Given the description of an element on the screen output the (x, y) to click on. 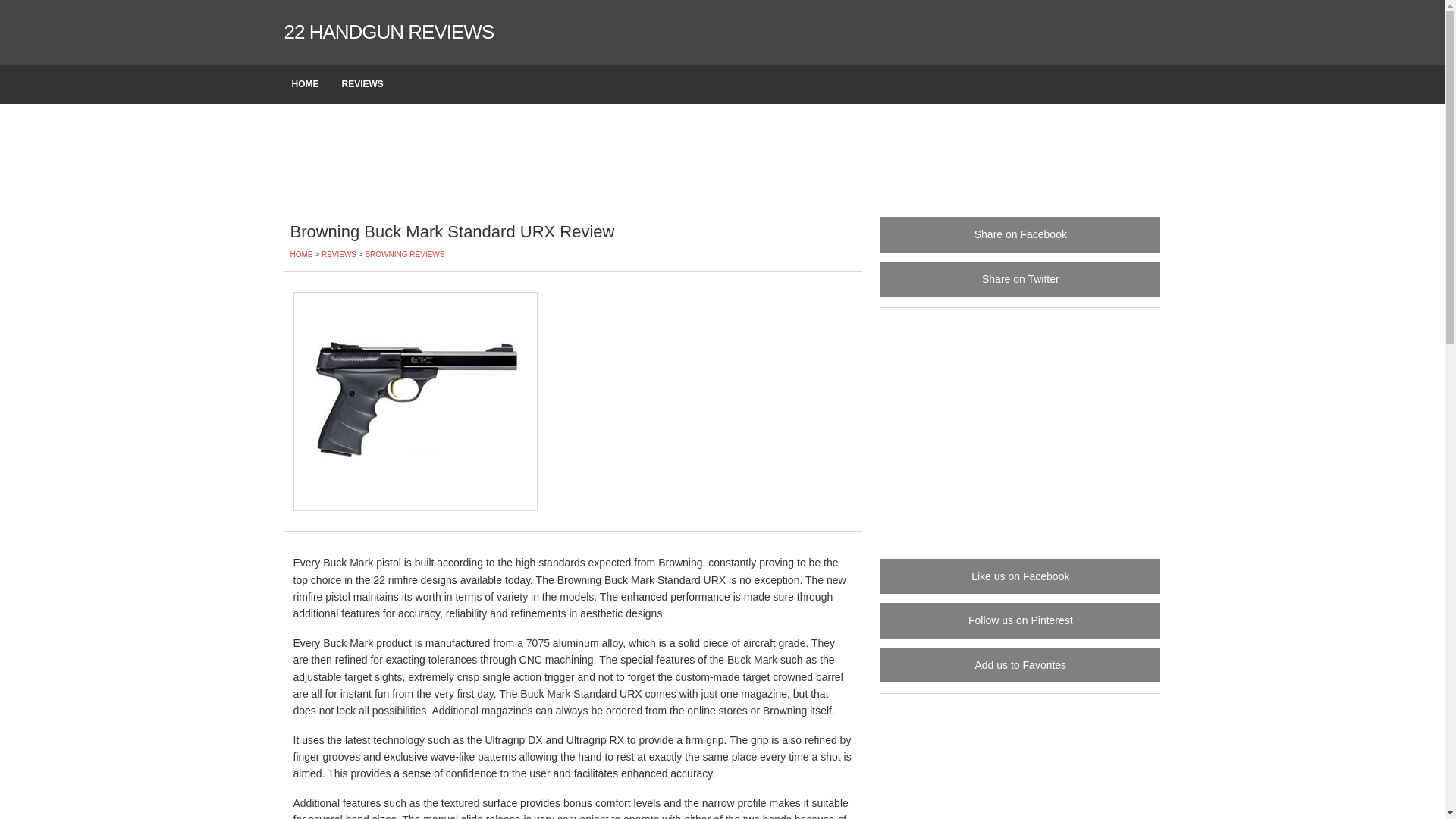
Advertisement Element type: hover (721, 159)
Share on Facebook Element type: text (1020, 233)
HOME Element type: text (300, 254)
BROWNING REVIEWS Element type: text (404, 254)
Add us to Favorites Element type: text (1020, 664)
Advertisement Element type: hover (1020, 424)
Like us on Facebook Element type: text (1020, 575)
22 HANDGUN REVIEWS Element type: text (388, 31)
REVIEWS Element type: text (365, 84)
Follow us on Pinterest Element type: text (1020, 619)
HOME Element type: text (308, 84)
REVIEWS Element type: text (338, 254)
Share on Twitter Element type: text (1020, 278)
